Given the description of an element on the screen output the (x, y) to click on. 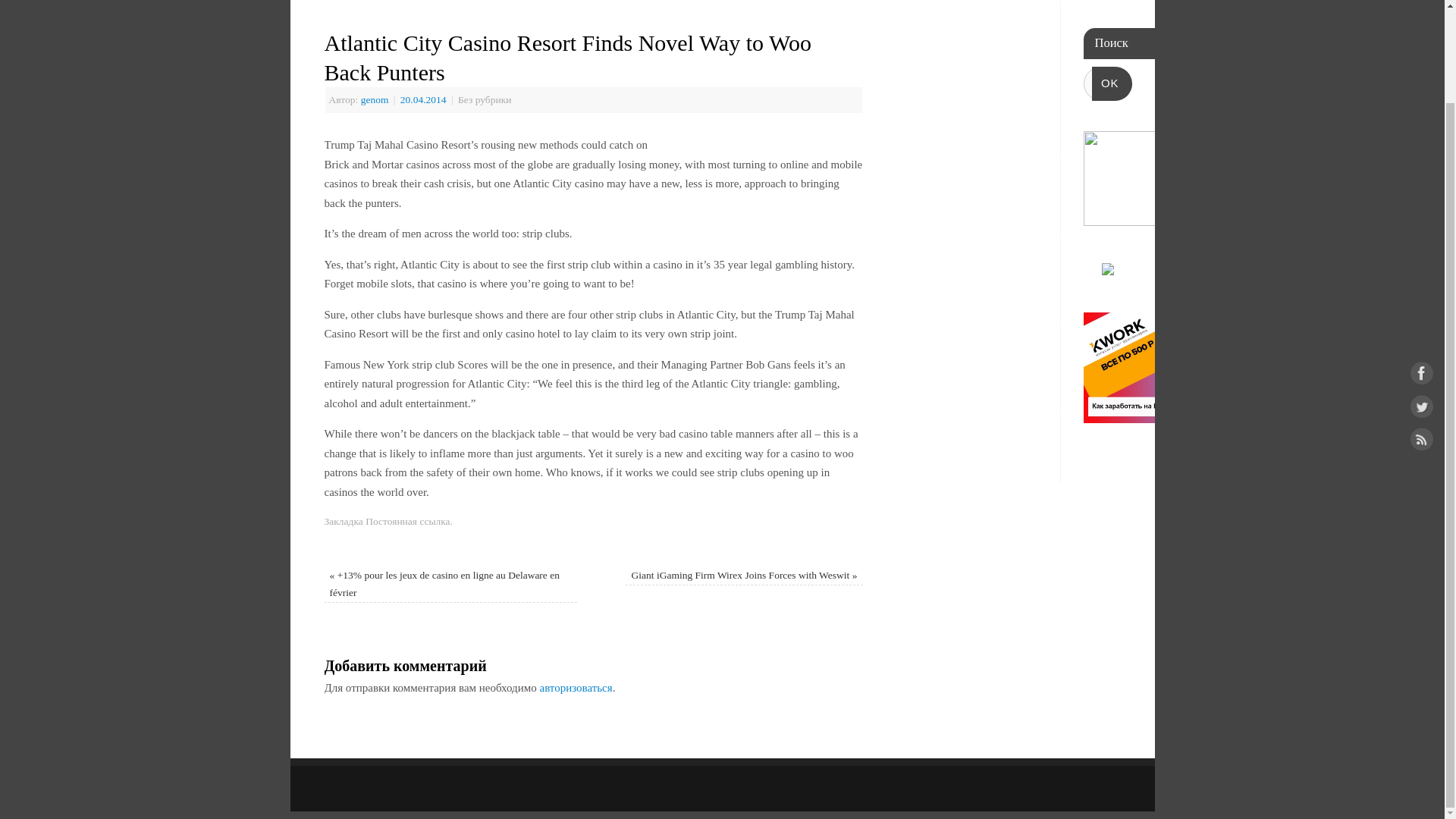
00:53 (424, 99)
OK (1112, 83)
20.04.2014 (424, 99)
genom (374, 99)
